Given the description of an element on the screen output the (x, y) to click on. 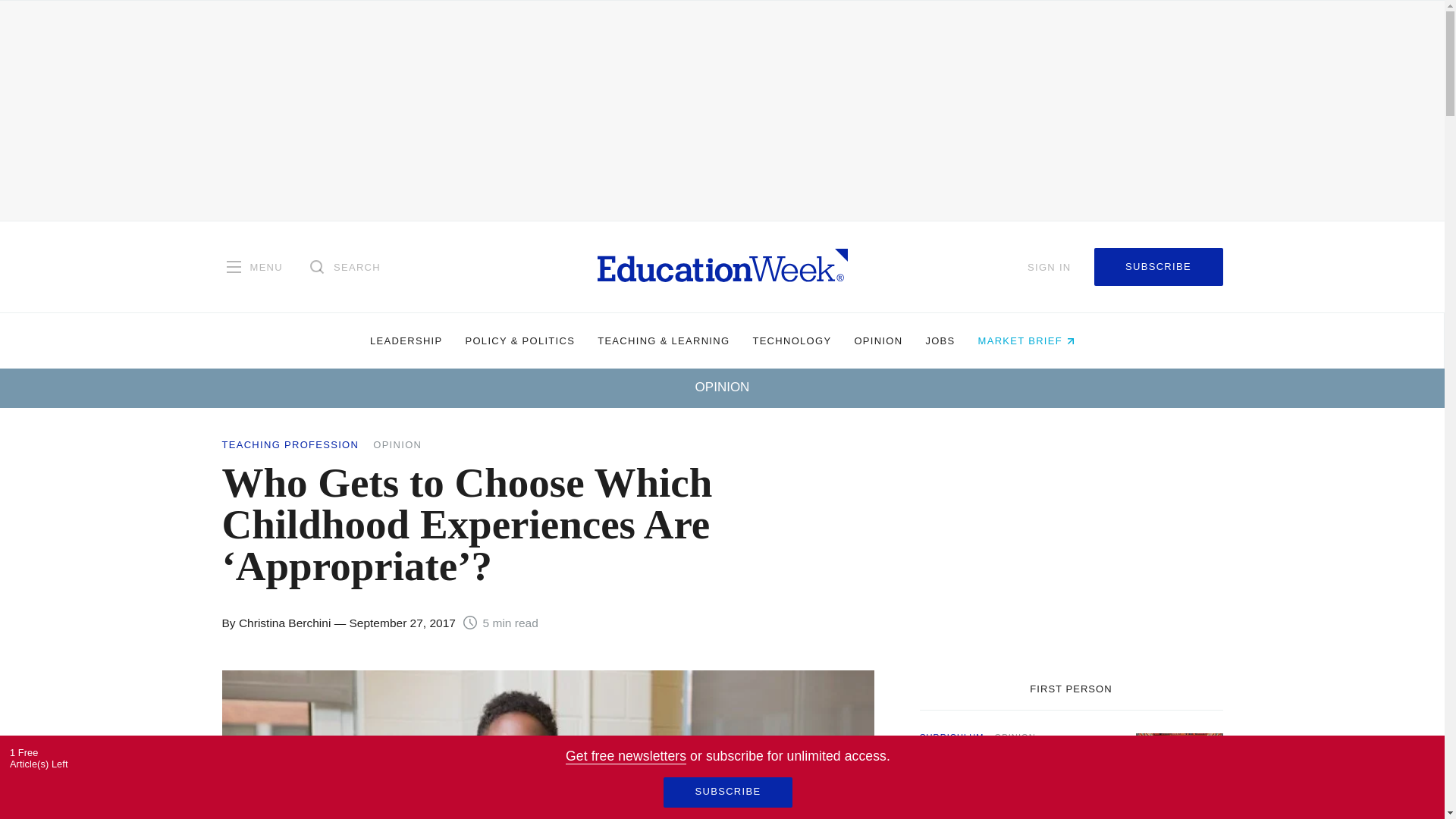
Homepage (721, 266)
